Given the description of an element on the screen output the (x, y) to click on. 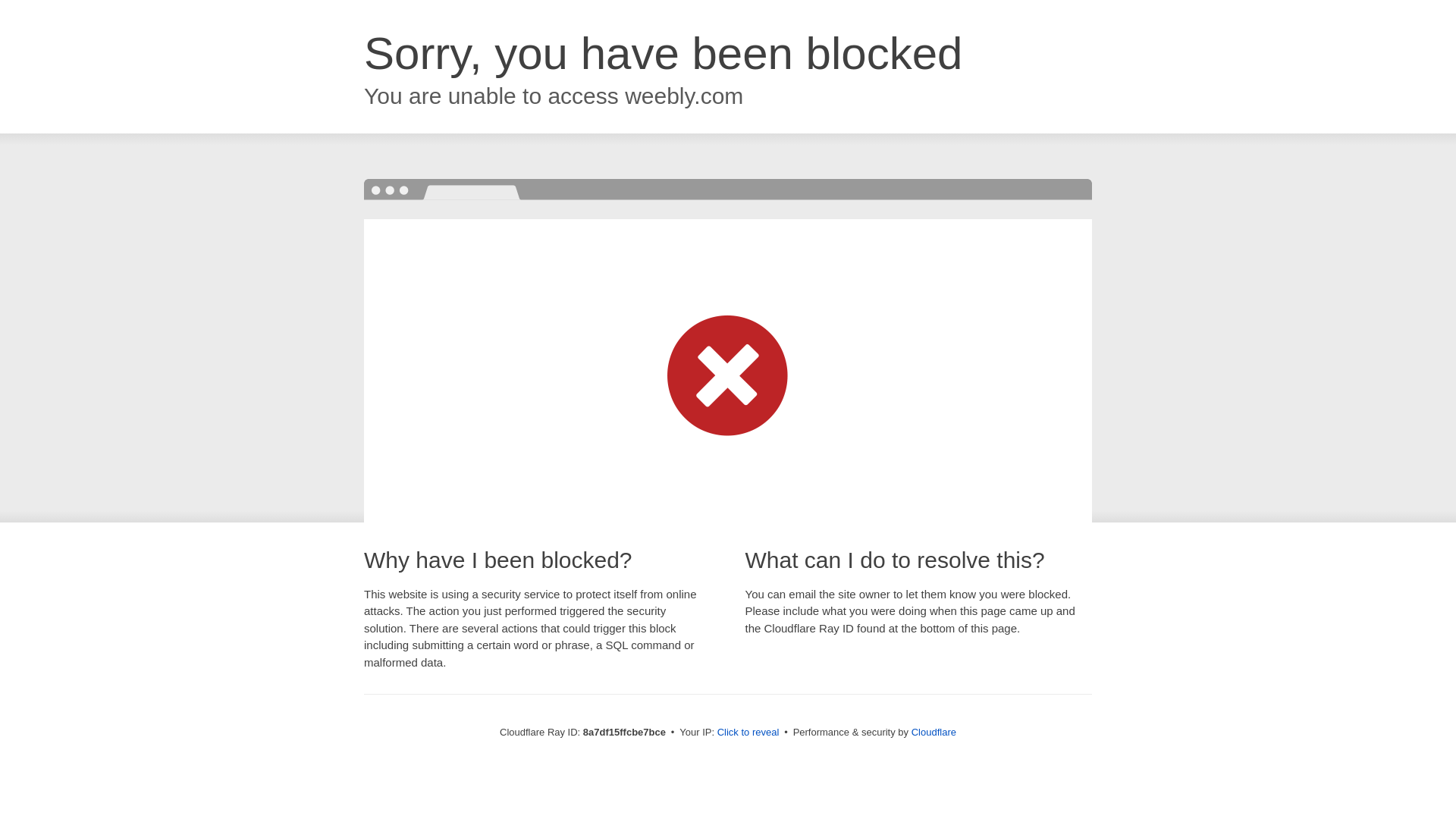
Cloudflare (933, 731)
Click to reveal (747, 732)
